Given the description of an element on the screen output the (x, y) to click on. 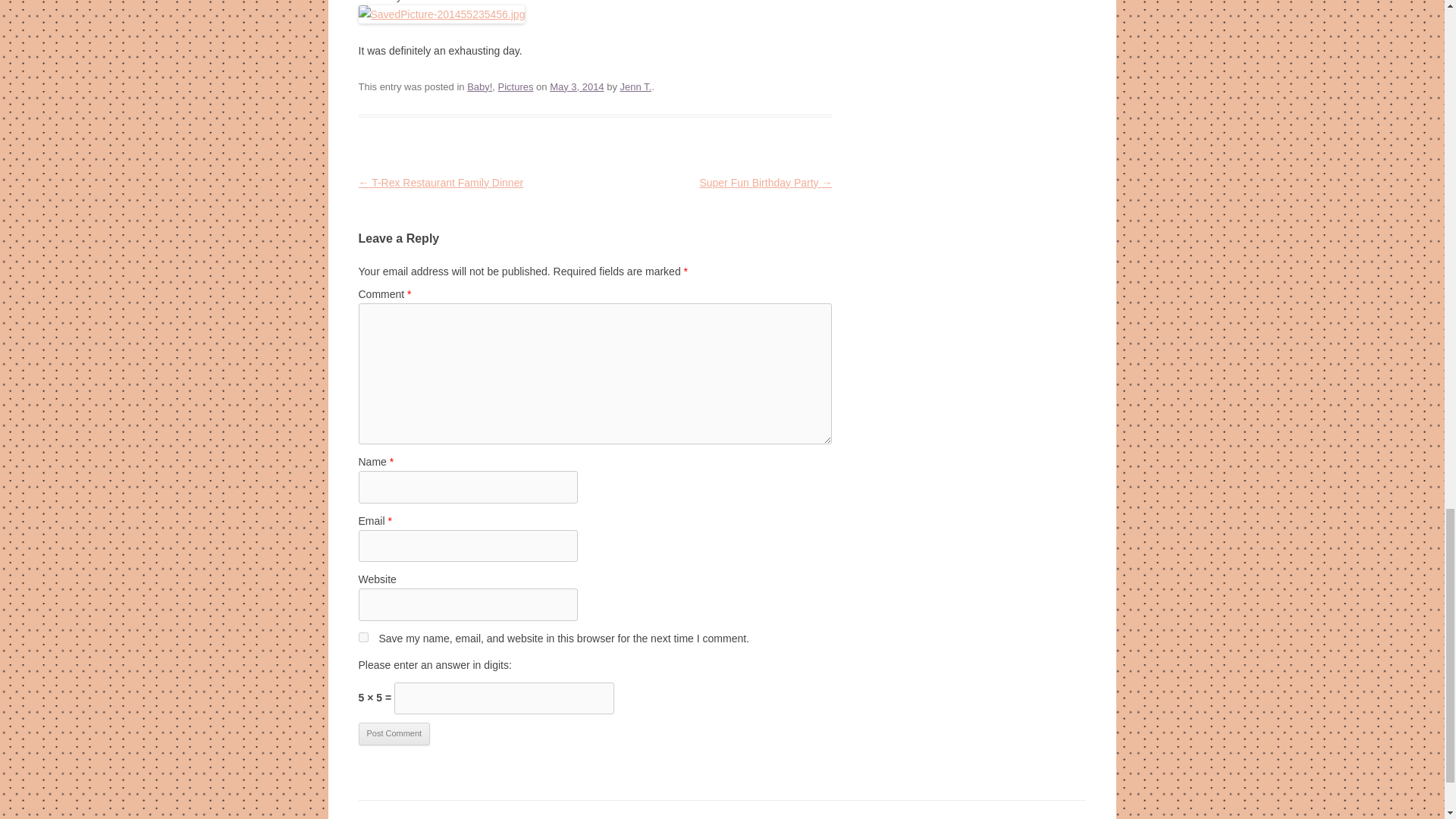
Jenn T. (636, 86)
Post Comment (393, 733)
Pictures (515, 86)
Post Comment (393, 733)
yes (363, 637)
May 3, 2014 (577, 86)
View all posts by Jenn T. (636, 86)
11:53 pm (577, 86)
Baby! (479, 86)
